Given the description of an element on the screen output the (x, y) to click on. 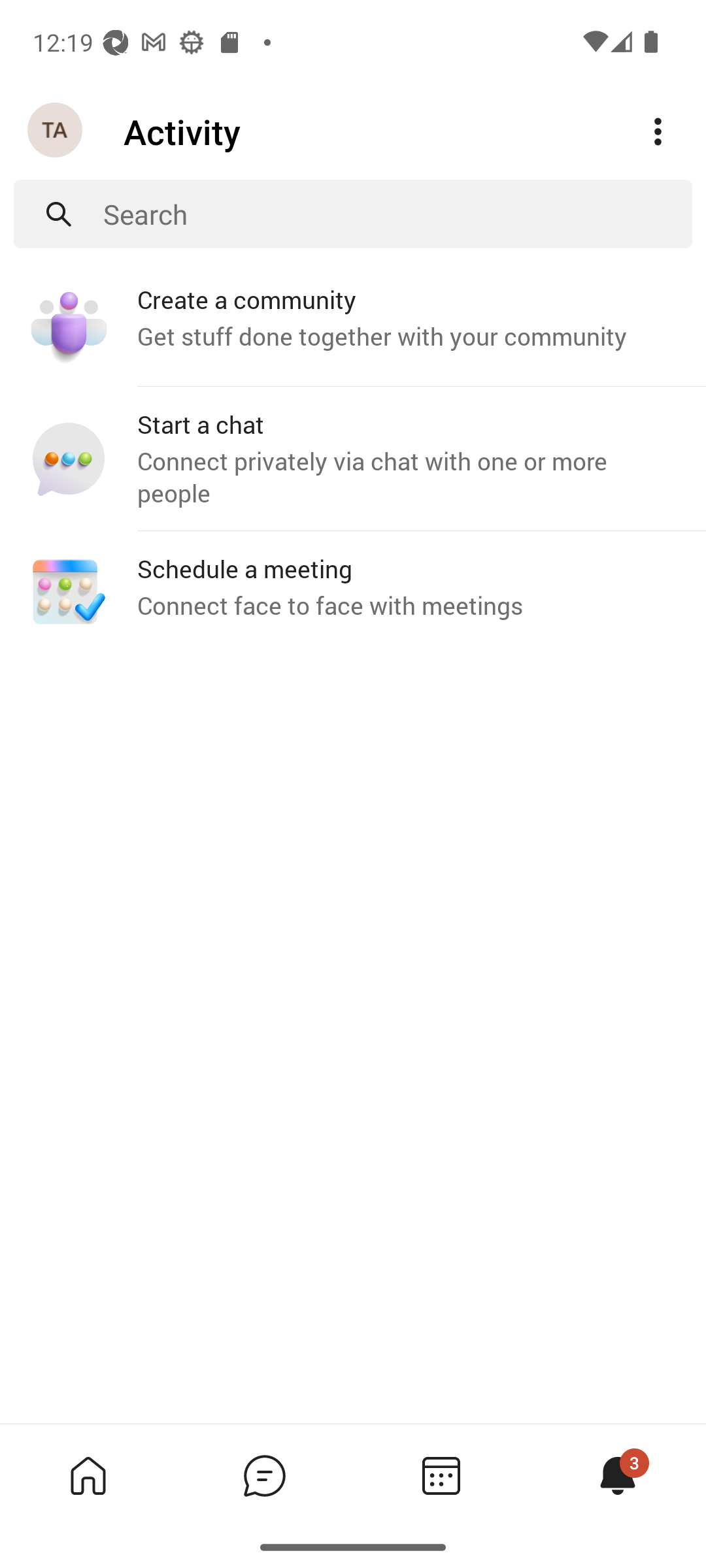
More options (657, 131)
Navigation (56, 130)
Search (397, 213)
Home tab,1 of 4, not selected (88, 1475)
Chat tab,2 of 4, not selected (264, 1475)
Calendar tab,3 of 4, not selected (441, 1475)
Activity tab, 4 of 4, 3 new 3 (617, 1475)
